Given the description of an element on the screen output the (x, y) to click on. 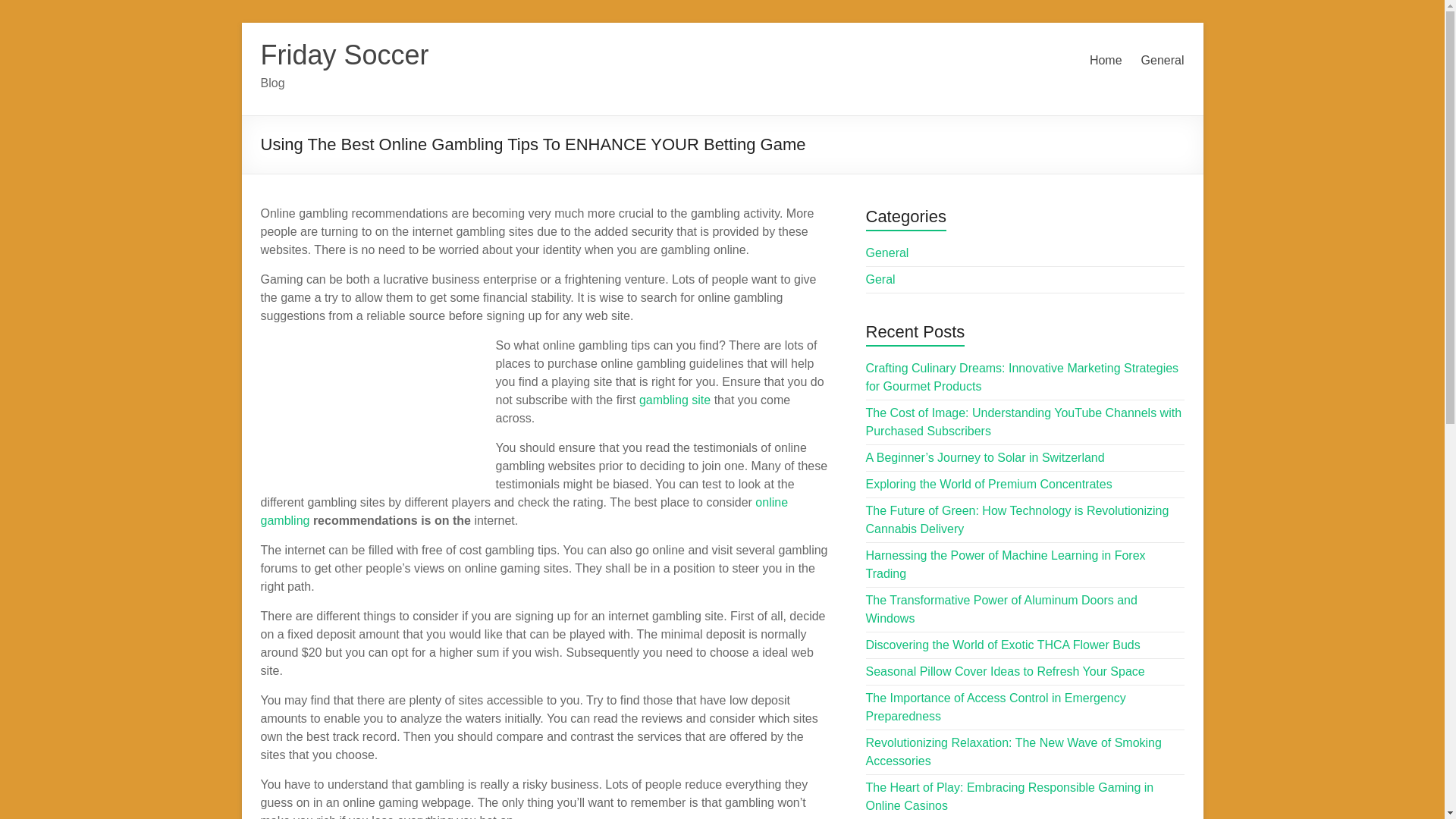
Discovering the World of Exotic THCA Flower Buds (1003, 644)
gambling site (674, 399)
Harnessing the Power of Machine Learning in Forex Trading (1005, 563)
Home (1105, 60)
The Importance of Access Control in Emergency Preparedness (995, 706)
online gambling (524, 511)
The Transformative Power of Aluminum Doors and Windows (1001, 608)
